Given the description of an element on the screen output the (x, y) to click on. 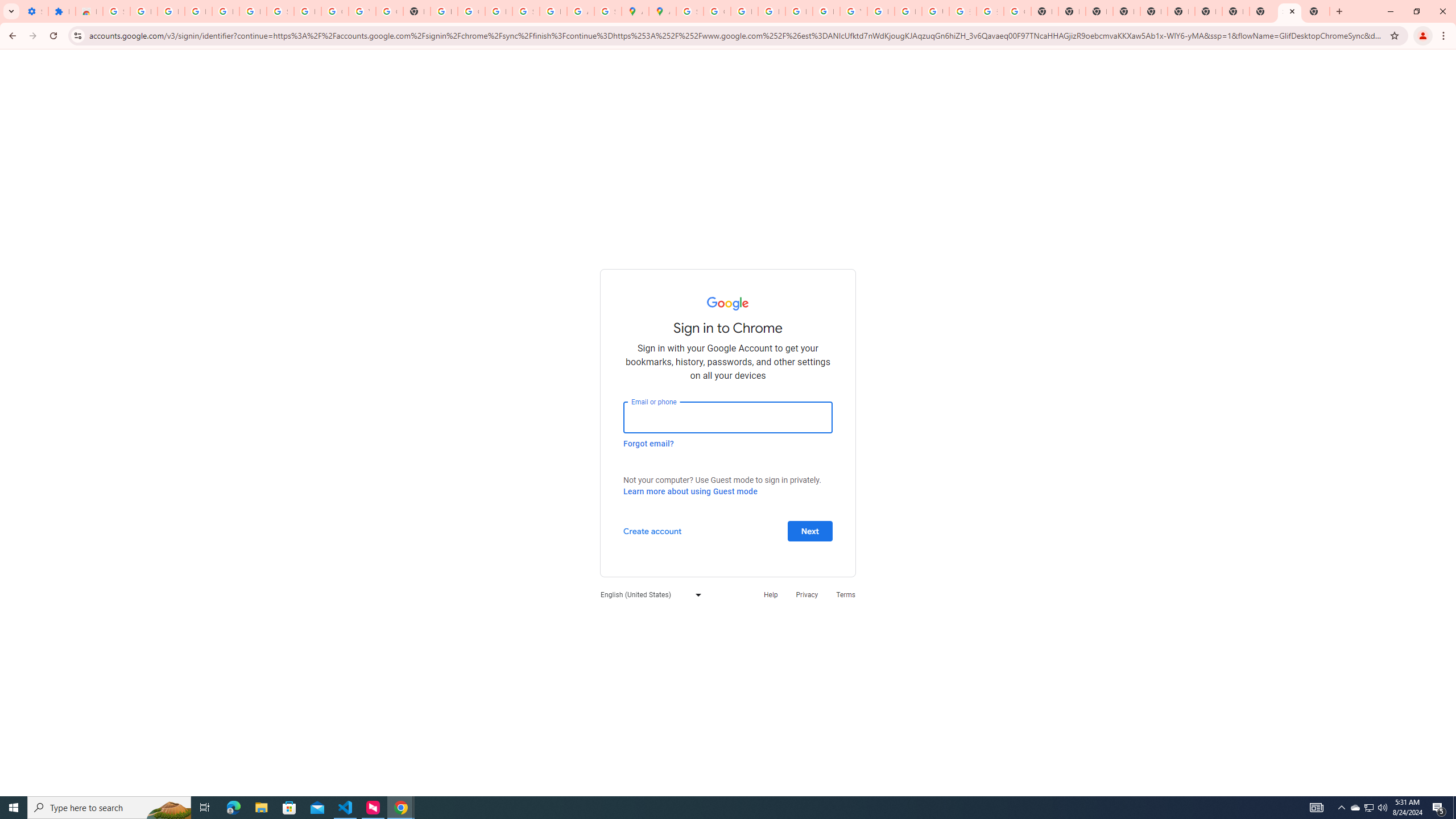
Google Account (334, 11)
